Given the description of an element on the screen output the (x, y) to click on. 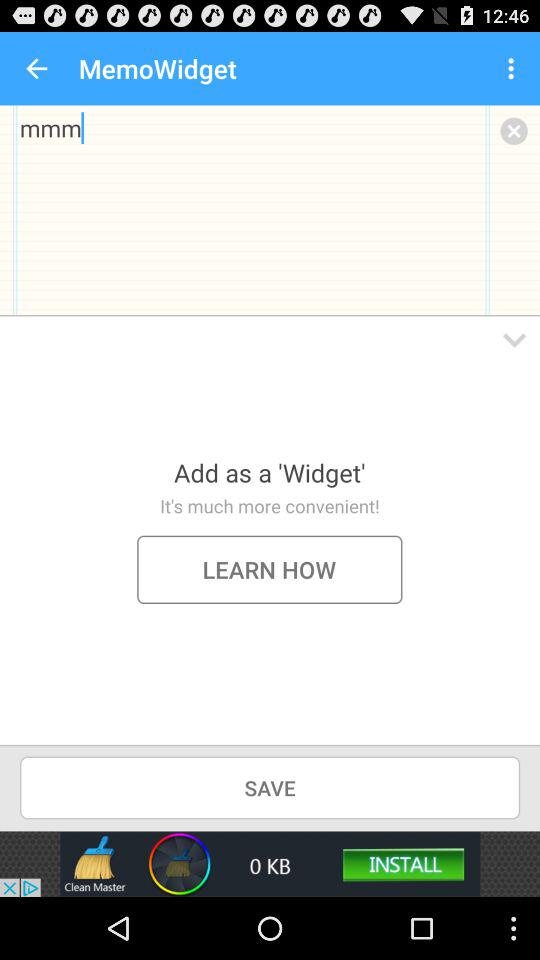
announcement (270, 864)
